Given the description of an element on the screen output the (x, y) to click on. 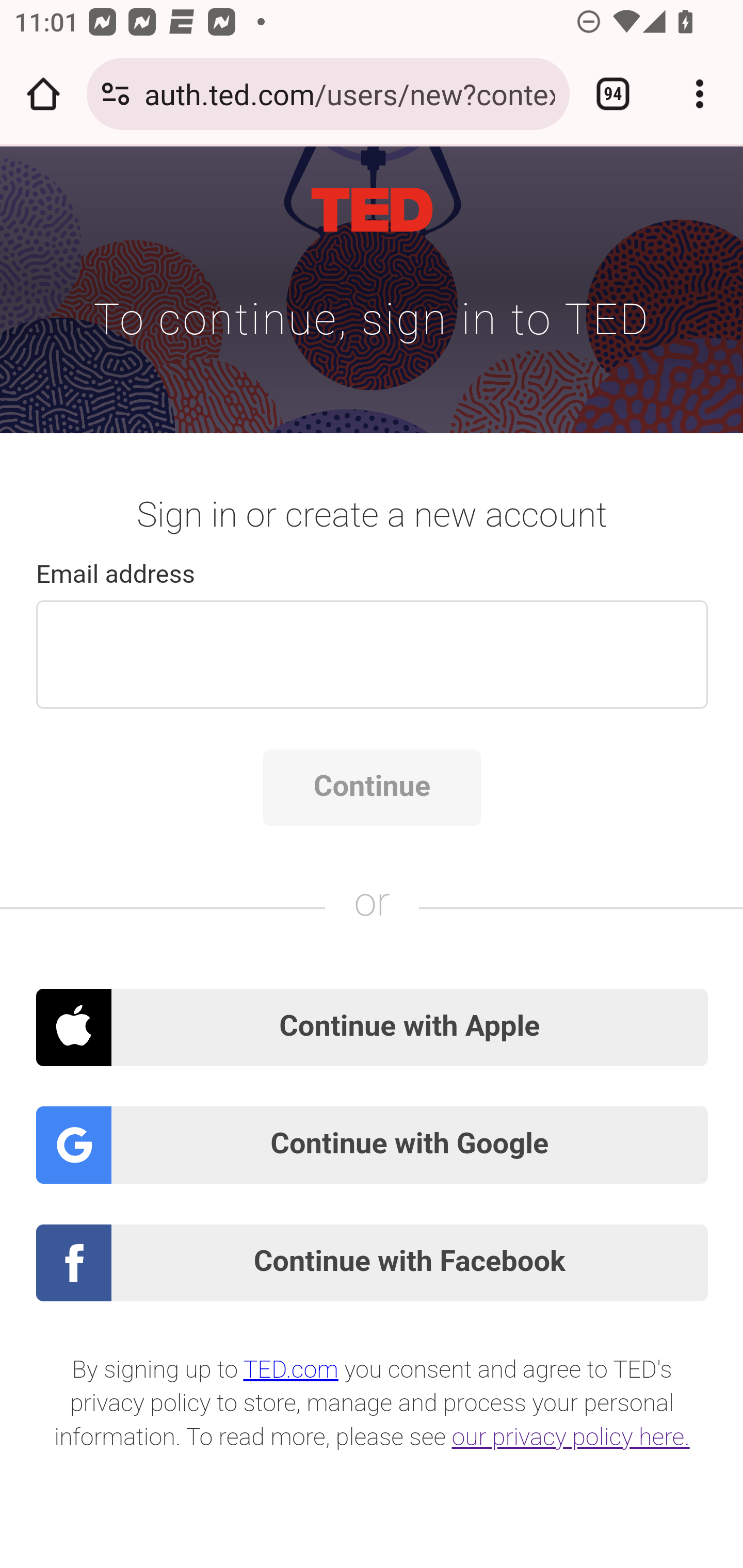
Open the home page (43, 93)
Connection is secure (115, 93)
Switch or close tabs (612, 93)
Customize and control Google Chrome (699, 93)
Continue (371, 787)
Continue with Apple (372, 1026)
Continue with Google (372, 1144)
Continue with Facebook (372, 1263)
TED.com (290, 1369)
our privacy policy here. (571, 1437)
